Given the description of an element on the screen output the (x, y) to click on. 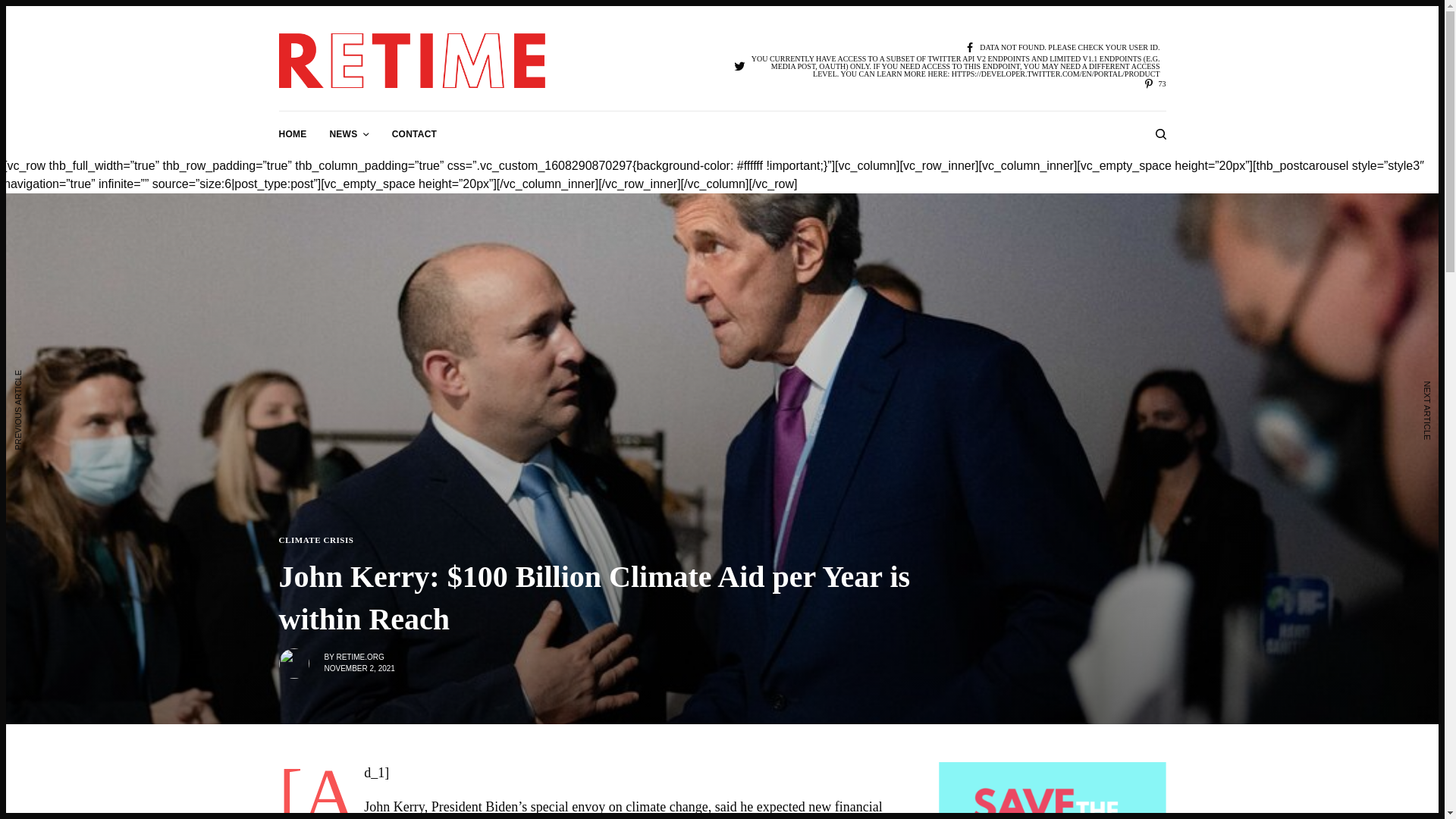
RETIME.ORG (360, 656)
CLIMATE CRISIS (316, 540)
73 (1154, 83)
DATA NOT FOUND. PLEASE CHECK YOUR USER ID. (1062, 47)
CONTACT (413, 134)
Posts by ReTime.org (360, 656)
ReTime (412, 60)
